Given the description of an element on the screen output the (x, y) to click on. 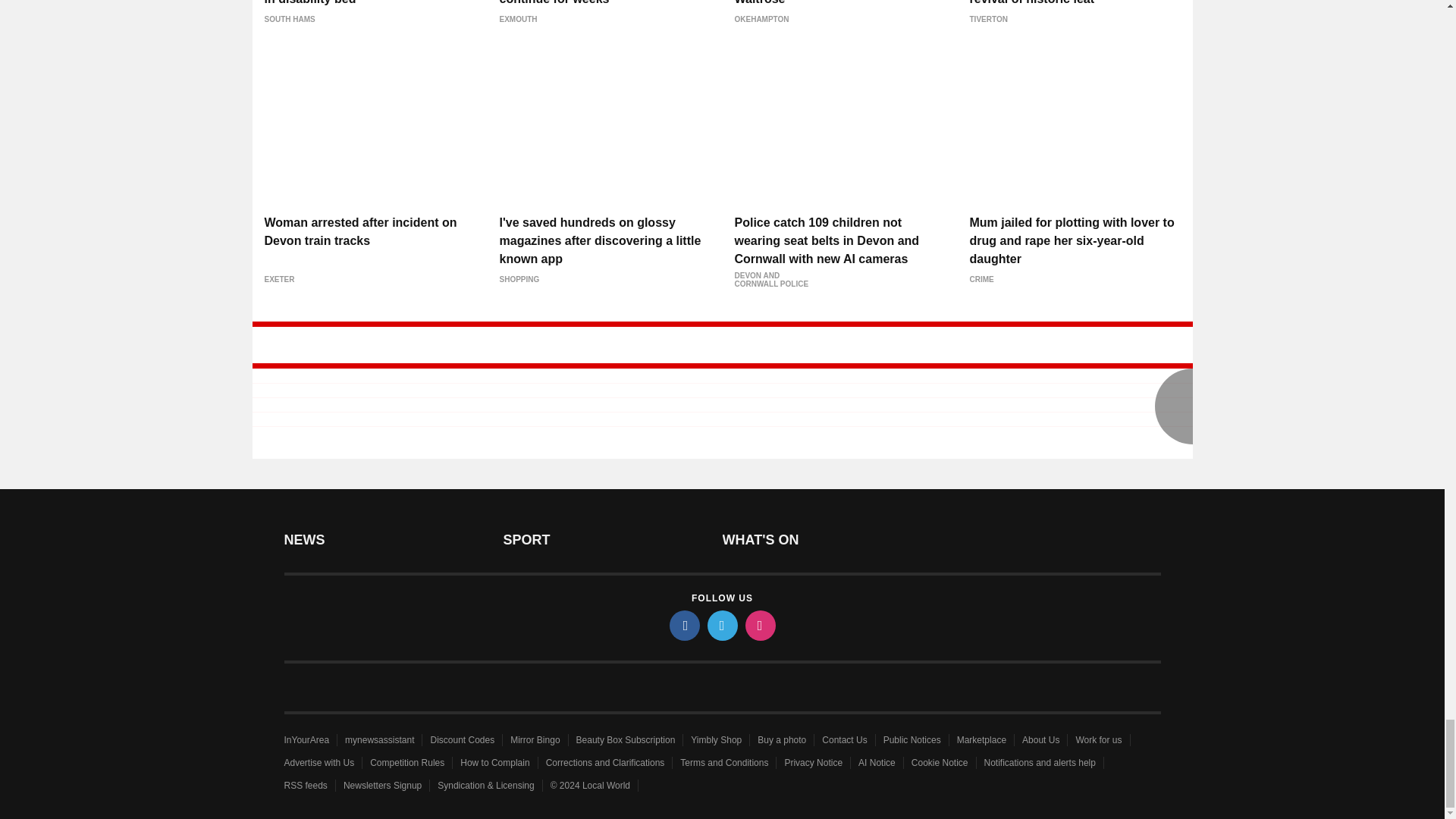
facebook (683, 625)
twitter (721, 625)
instagram (759, 625)
